Given the description of an element on the screen output the (x, y) to click on. 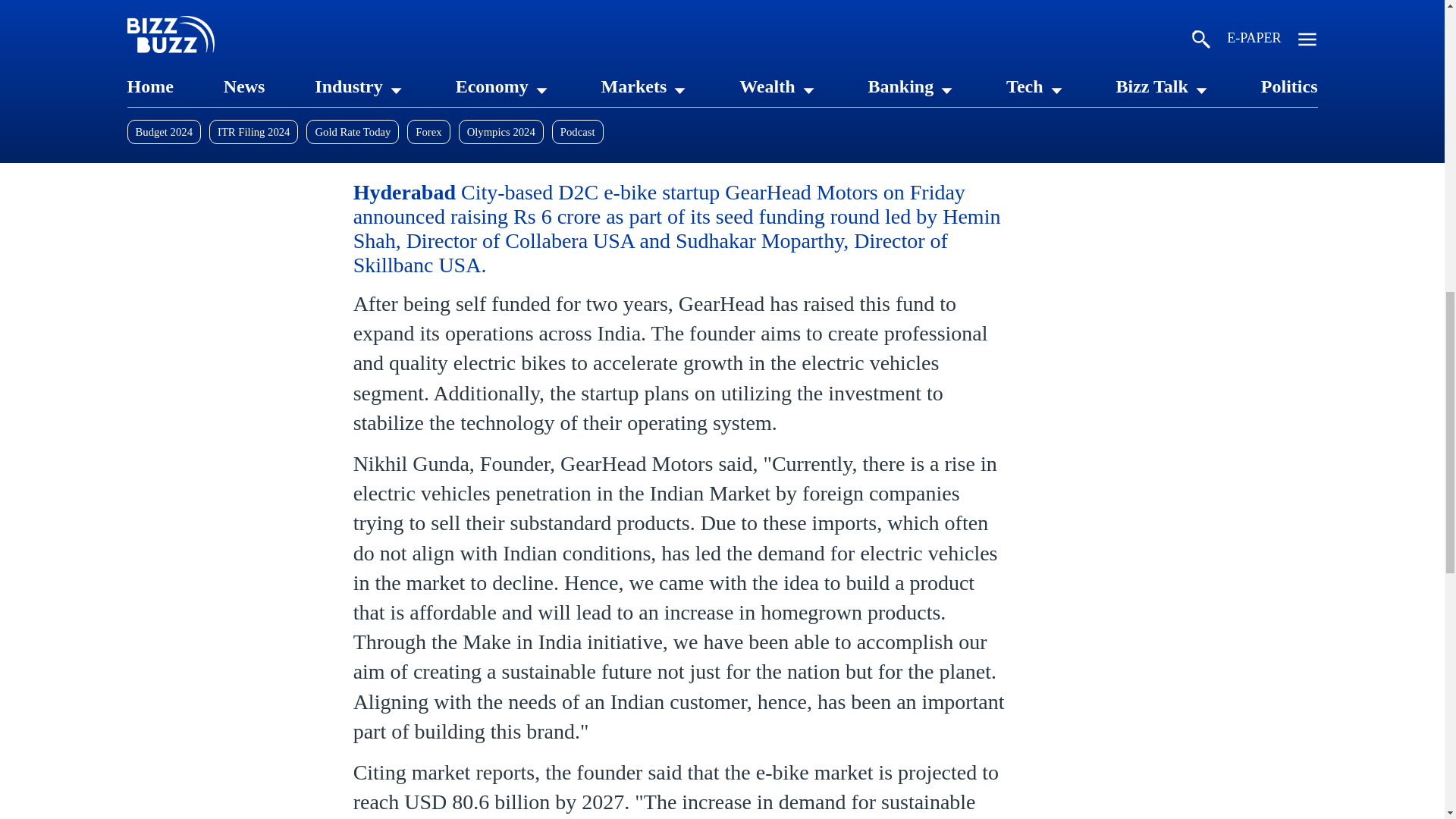
Share by Email (567, 149)
LinkedIn (368, 149)
